Given the description of an element on the screen output the (x, y) to click on. 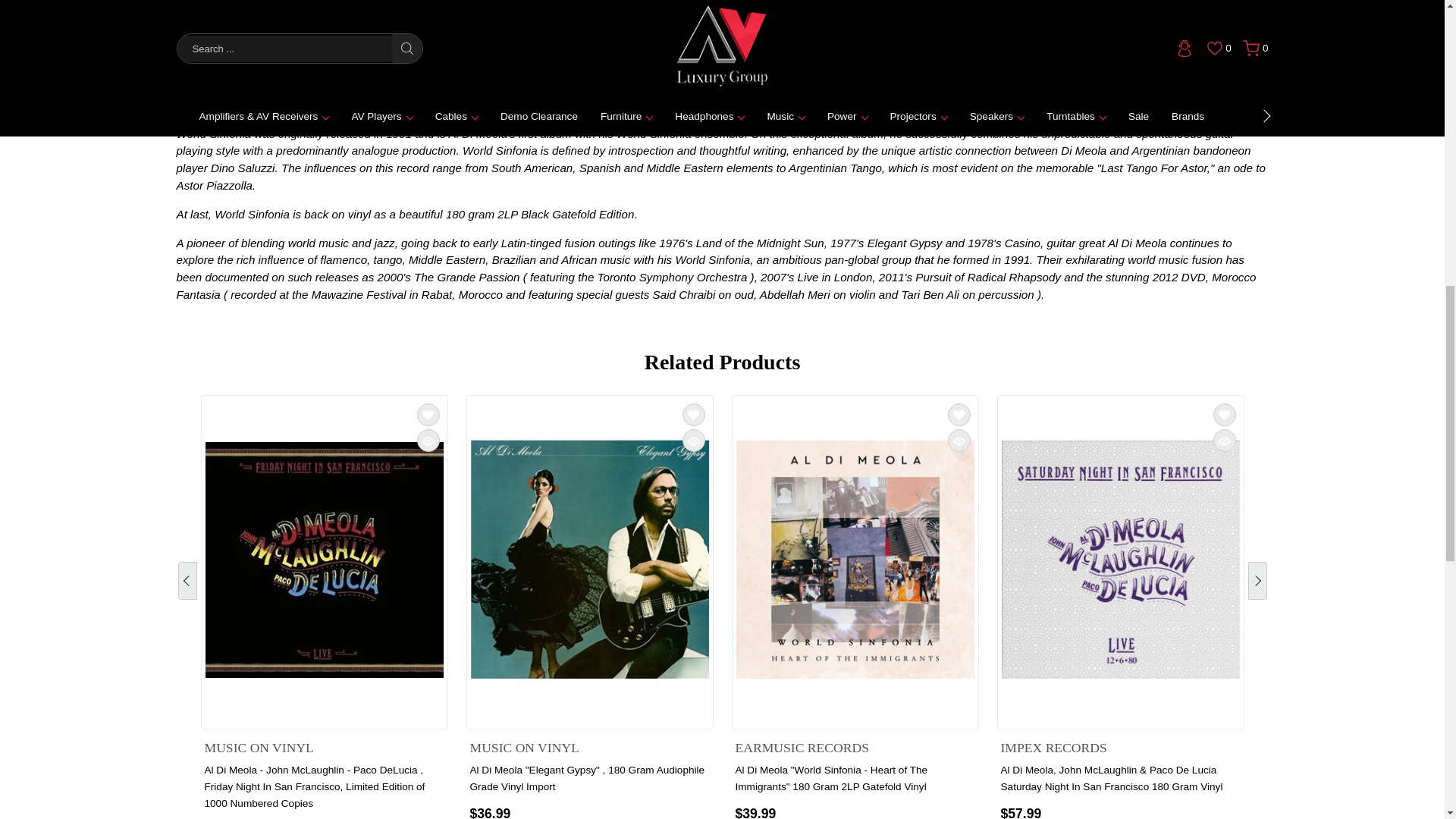
Add to Wishlist (1224, 414)
Add to Wishlist (693, 414)
Add to Wishlist (427, 414)
Quick shop (959, 440)
Quick shop (1224, 440)
Quick shop (427, 440)
Add to Wishlist (959, 414)
Quick shop (693, 440)
